Given the description of an element on the screen output the (x, y) to click on. 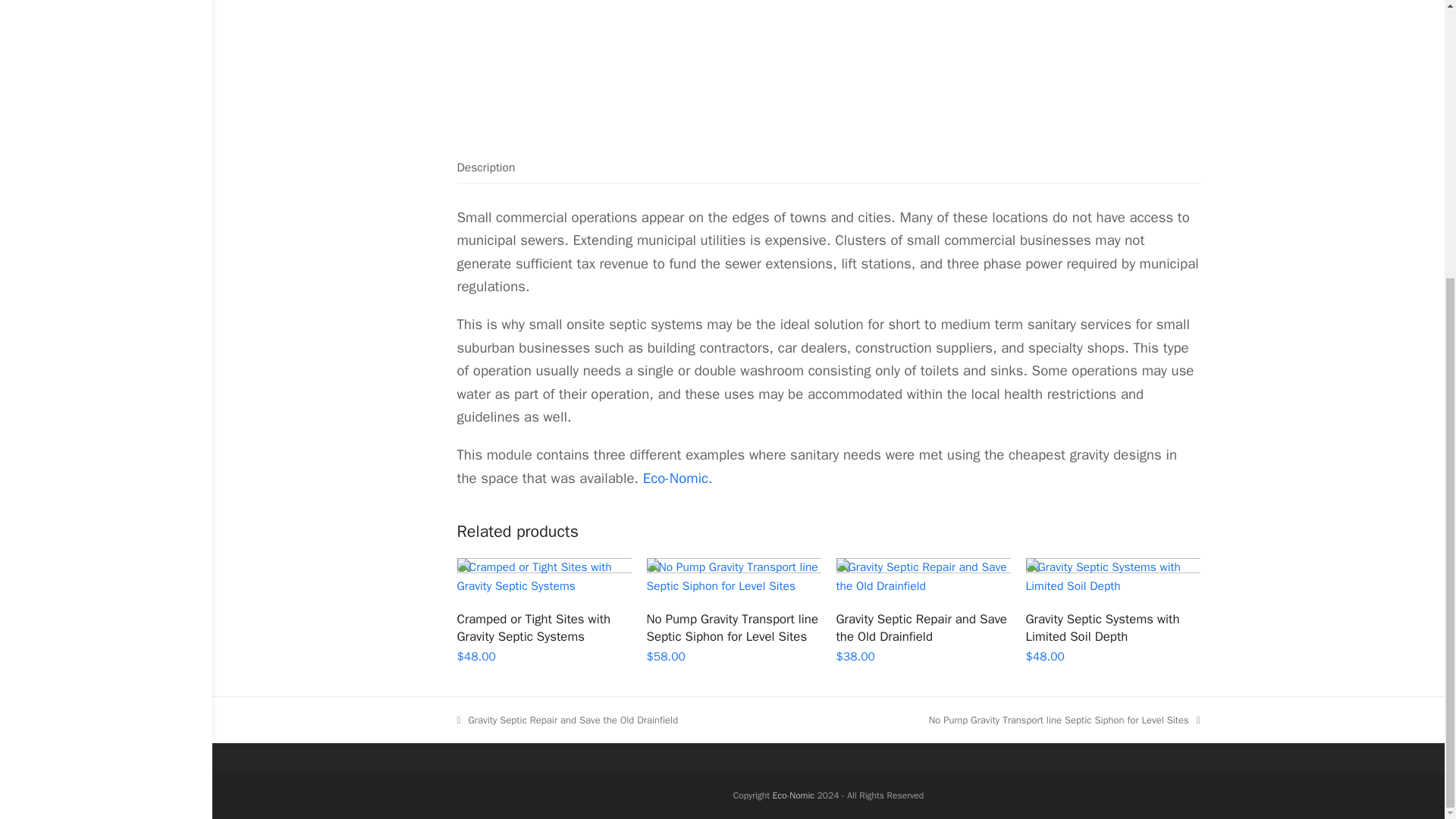
Gravity Septic Repair and Save the Old Drainfield (922, 627)
Cramped or Tight Sites with Gravity Septic Systems (543, 627)
Eco-Nomic (793, 795)
Eco-Nomic. (678, 478)
No Pump Gravity Transport line Septic Siphon for Level Sites (733, 627)
Gravity Septic Systems with Limited Soil Depth (1112, 627)
Description (486, 167)
